Given the description of an element on the screen output the (x, y) to click on. 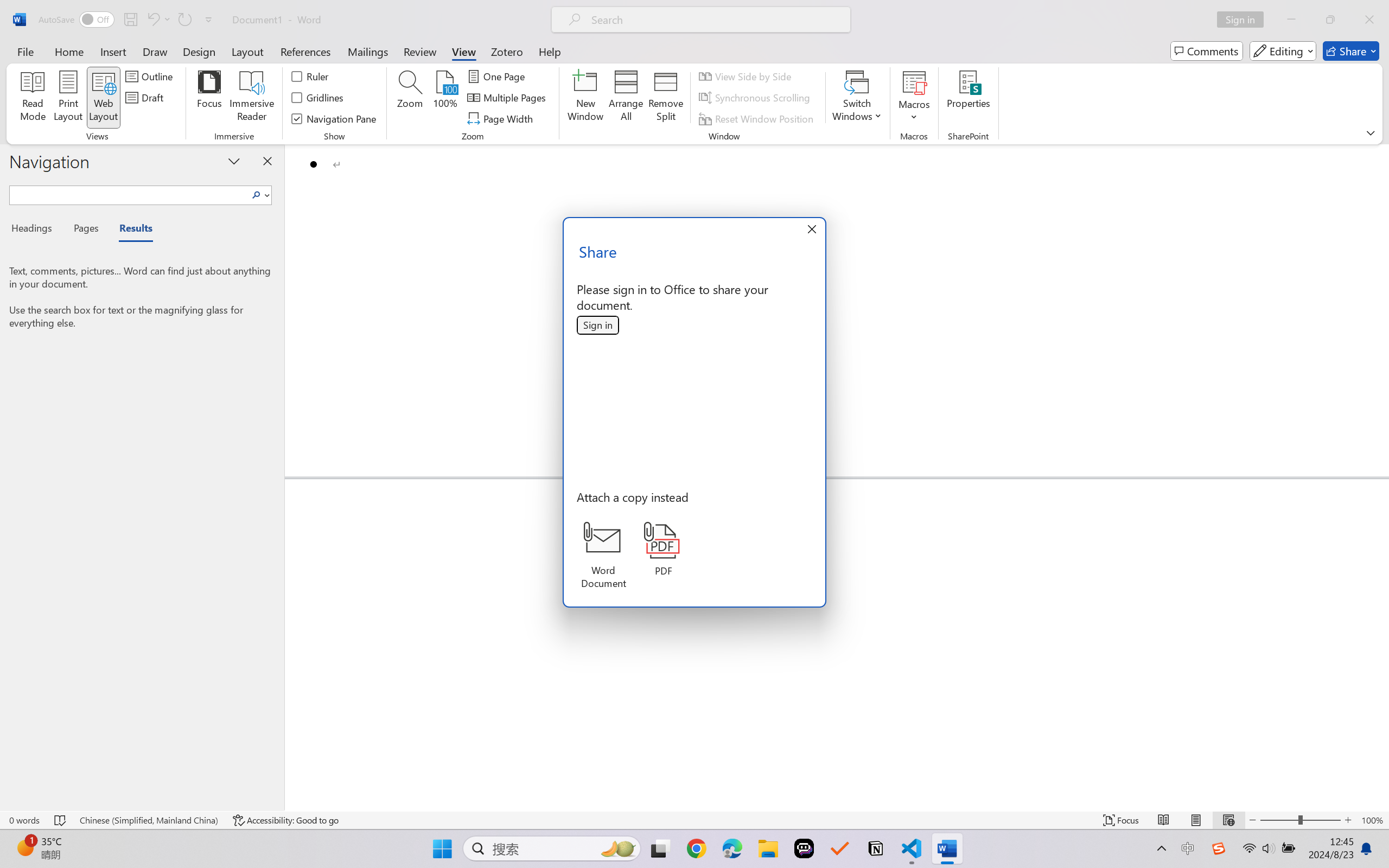
Switch Windows (856, 97)
Zoom... (409, 97)
Reset Window Position (757, 118)
Undo Bullet Default (158, 19)
One Page (497, 75)
Gridlines (317, 97)
